Given the description of an element on the screen output the (x, y) to click on. 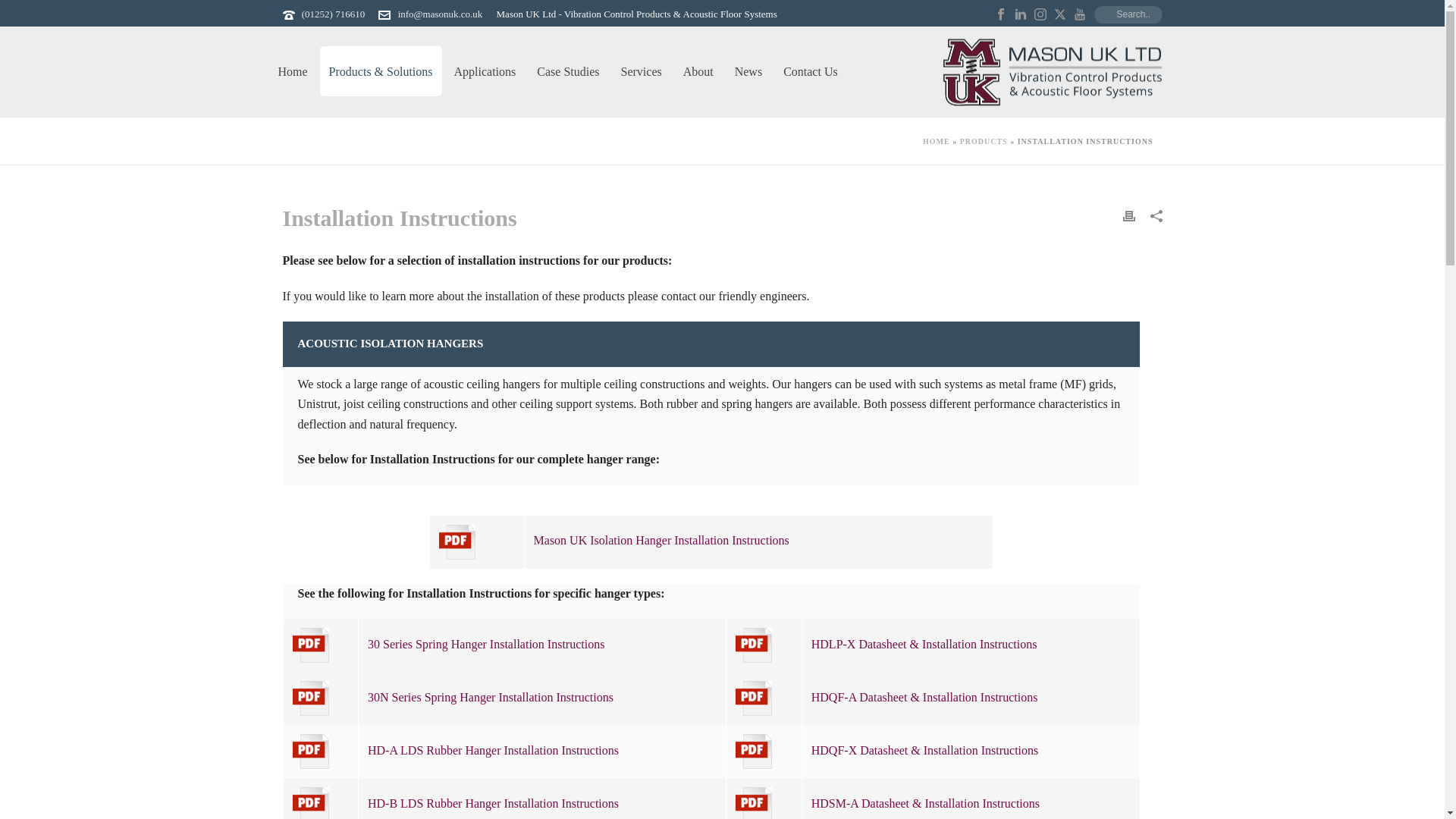
Case Studies (567, 70)
Home (291, 70)
About (698, 70)
Services (640, 70)
Contact Us (810, 70)
Applications (485, 70)
Mason UK (1052, 71)
News (748, 70)
Home (291, 70)
